Given the description of an element on the screen output the (x, y) to click on. 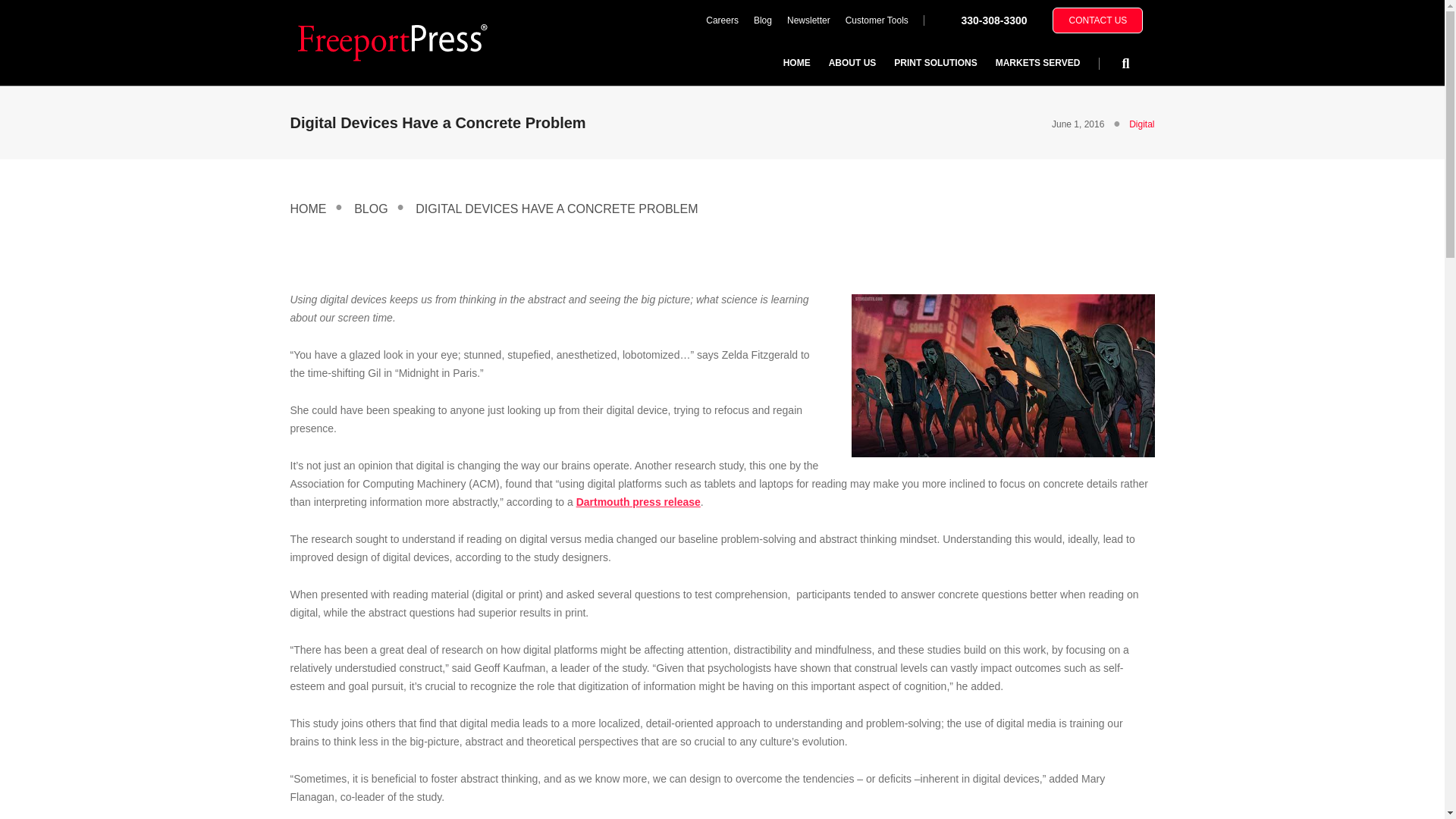
HOME (796, 62)
Careers (721, 20)
Customer Tools (876, 20)
ABOUT US (852, 62)
Blog (761, 20)
Newsletter (808, 20)
MARKETS SERVED (1038, 62)
PRINT SOLUTIONS (935, 62)
330-308-3300 (993, 20)
CONTACT US (1097, 20)
